Given the description of an element on the screen output the (x, y) to click on. 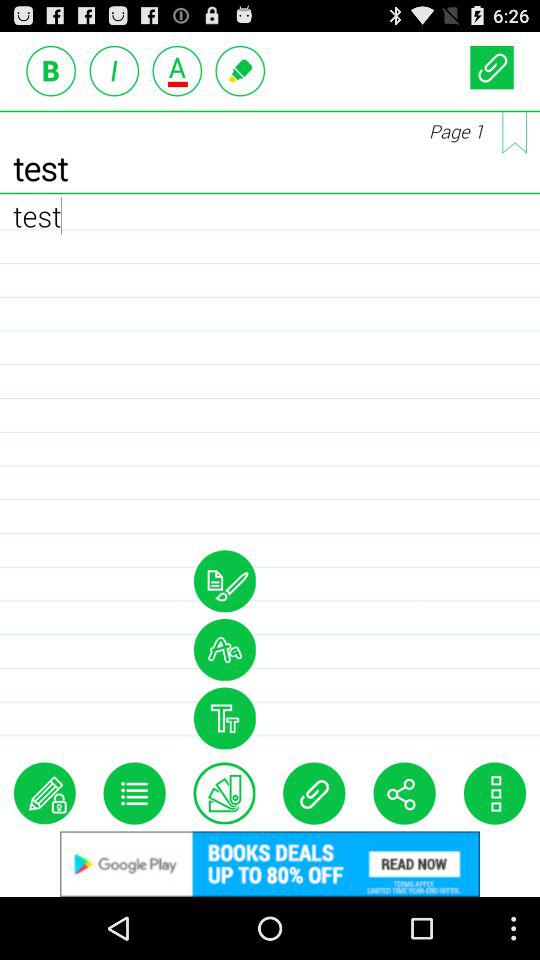
click to add text (177, 70)
